Given the description of an element on the screen output the (x, y) to click on. 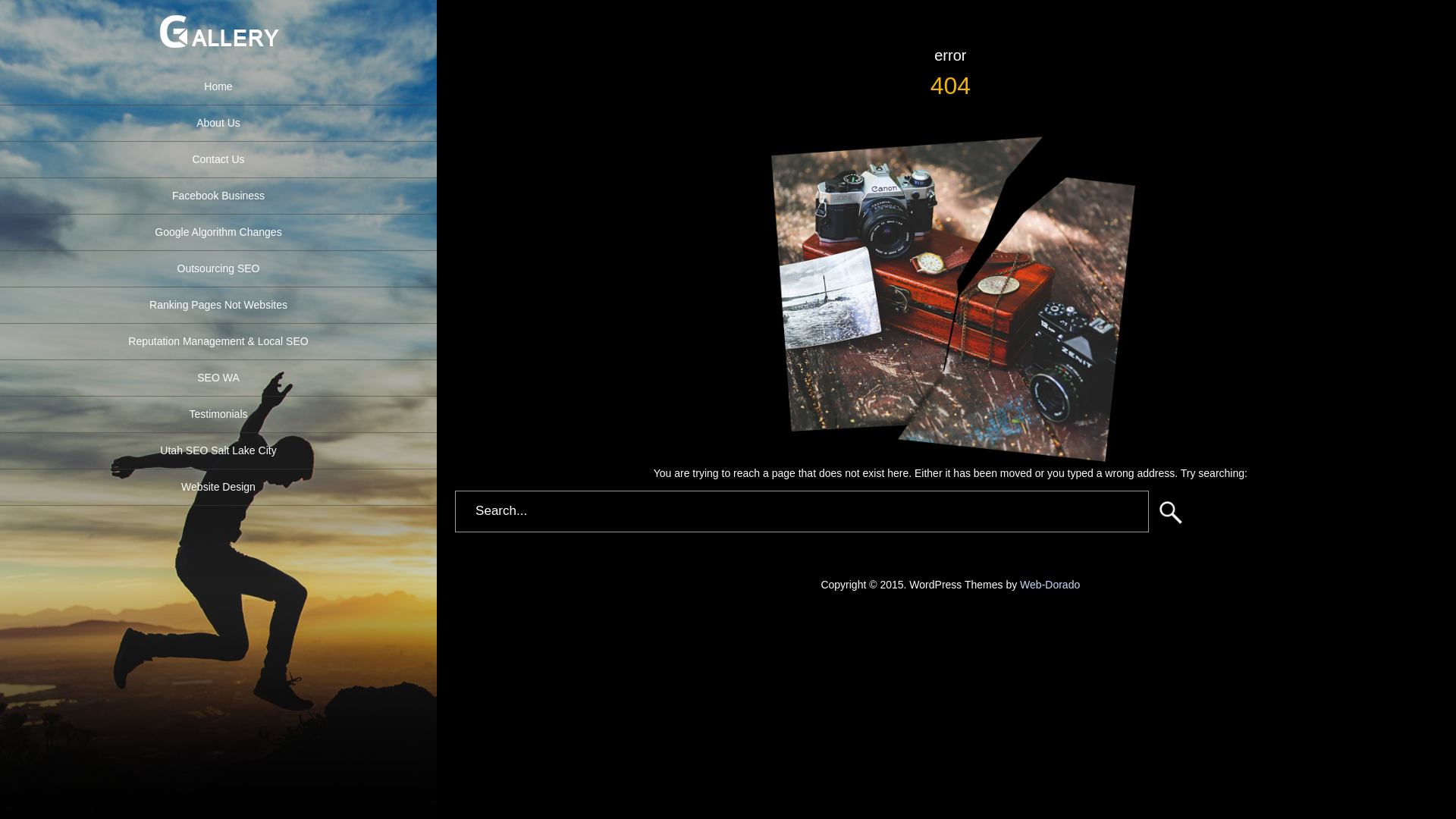
About Us Element type: text (218, 123)
Home Element type: text (218, 87)
Google Algorithm Changes Element type: text (218, 232)
Ranking Pages Not Websites Element type: text (218, 305)
Facebook Business Element type: text (218, 196)
SEO WA Element type: text (218, 378)
Outsourcing SEO Element type: text (218, 269)
Mamba SEO Company Mandurah Perth Element type: hover (217, 59)
Website Design Element type: text (218, 487)
Reputation Management & Local SEO Element type: text (218, 341)
Testimonials Element type: text (218, 414)
Web-Dorado Element type: text (1049, 584)
Utah SEO Salt Lake City Element type: text (218, 451)
Contact Us Element type: text (218, 159)
404 Element type: hover (949, 296)
